Given the description of an element on the screen output the (x, y) to click on. 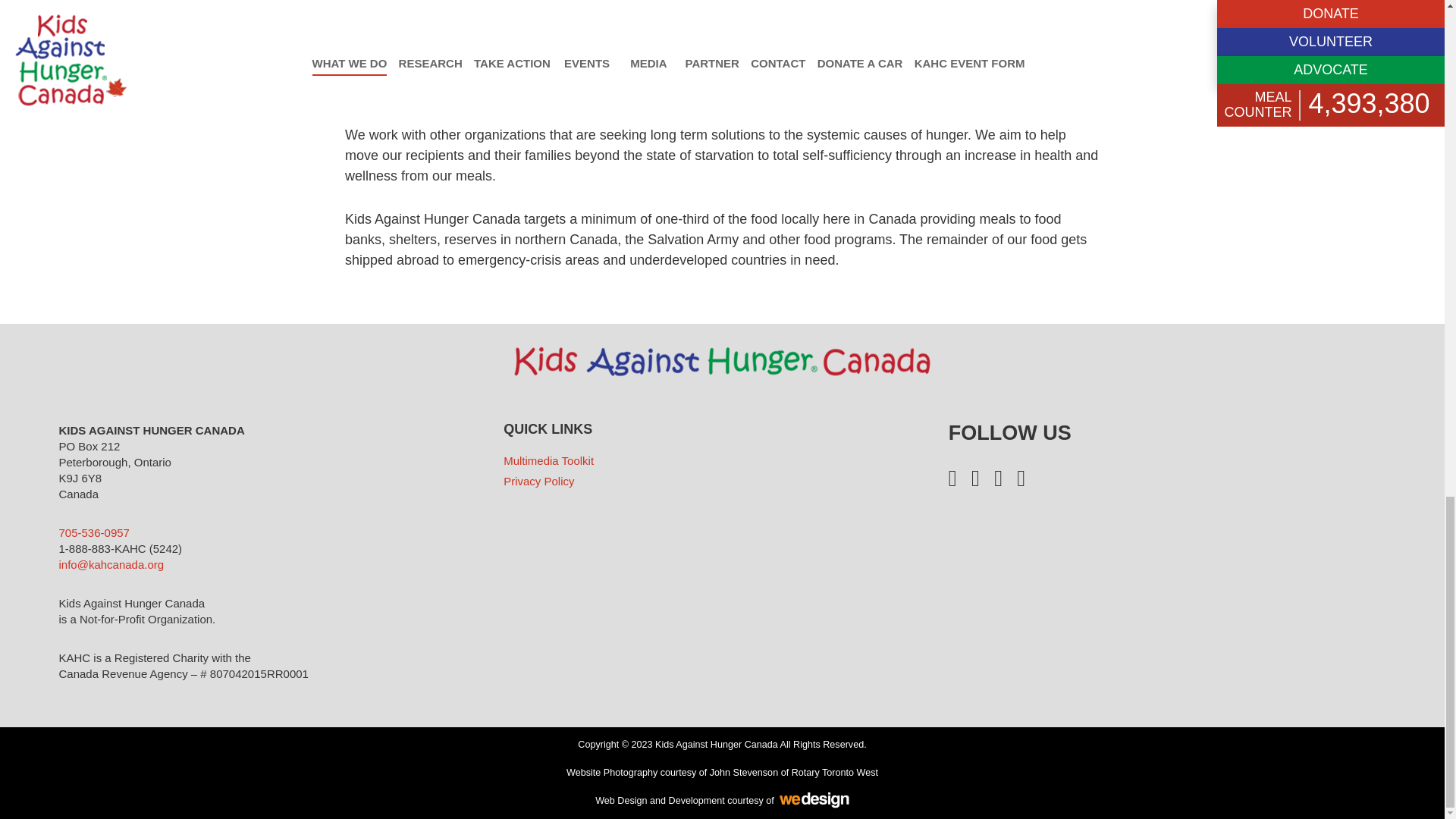
Privacy Policy (538, 481)
Multimedia Toolkit (548, 460)
705-536-0957 (94, 532)
